Given the description of an element on the screen output the (x, y) to click on. 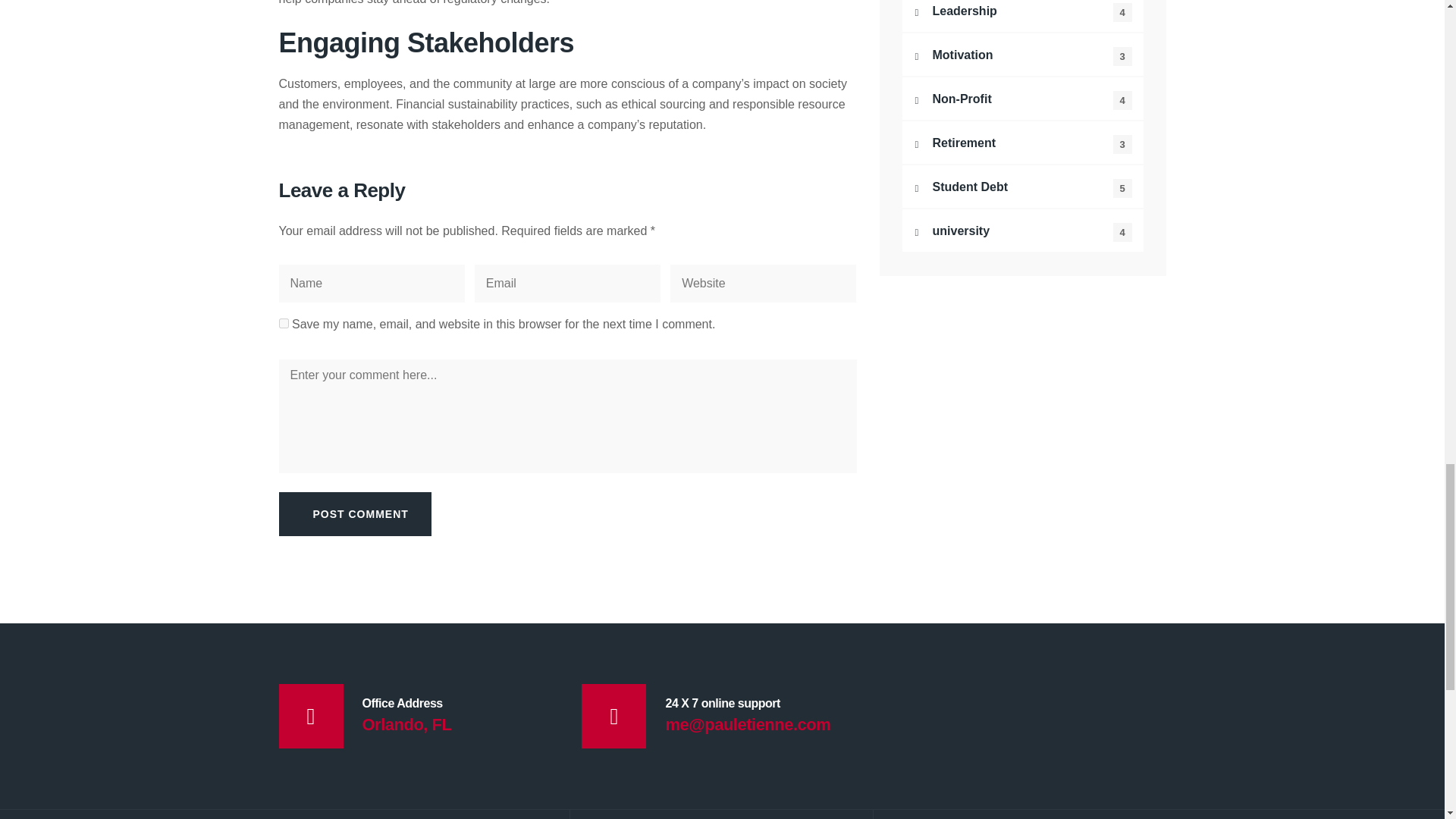
Post Comment (354, 514)
yes (283, 323)
Post Comment (354, 514)
